Given the description of an element on the screen output the (x, y) to click on. 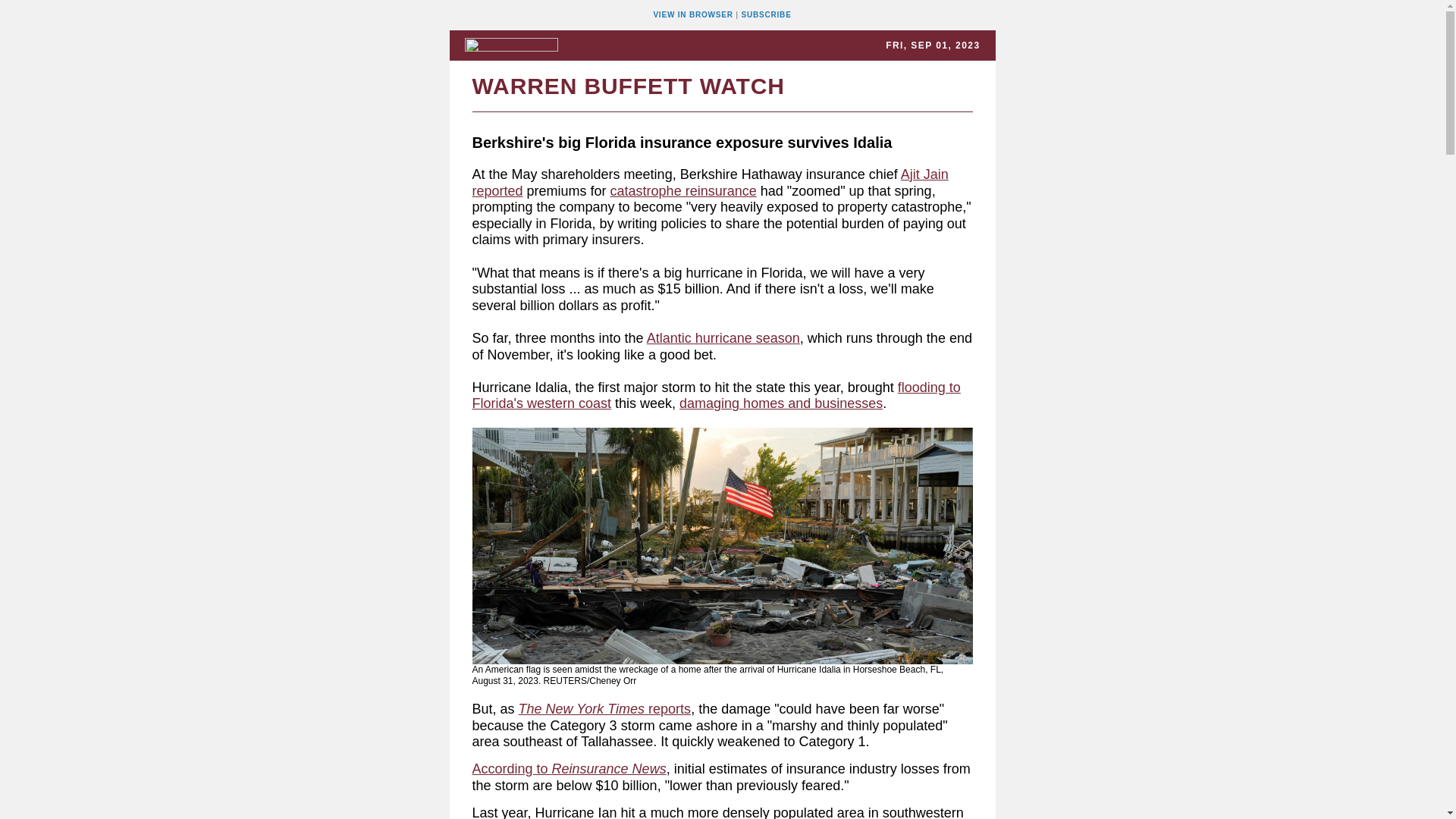
flooding to Florida's western coast (715, 395)
VIEW IN BROWSER (693, 14)
The New York Times reports (604, 708)
Atlantic hurricane season (722, 337)
catastrophe reinsurance (683, 191)
According to Reinsurance News (568, 768)
damaging homes and businesses (780, 403)
Ajit Jain reported (709, 183)
SUBSCRIBE (766, 14)
